Given the description of an element on the screen output the (x, y) to click on. 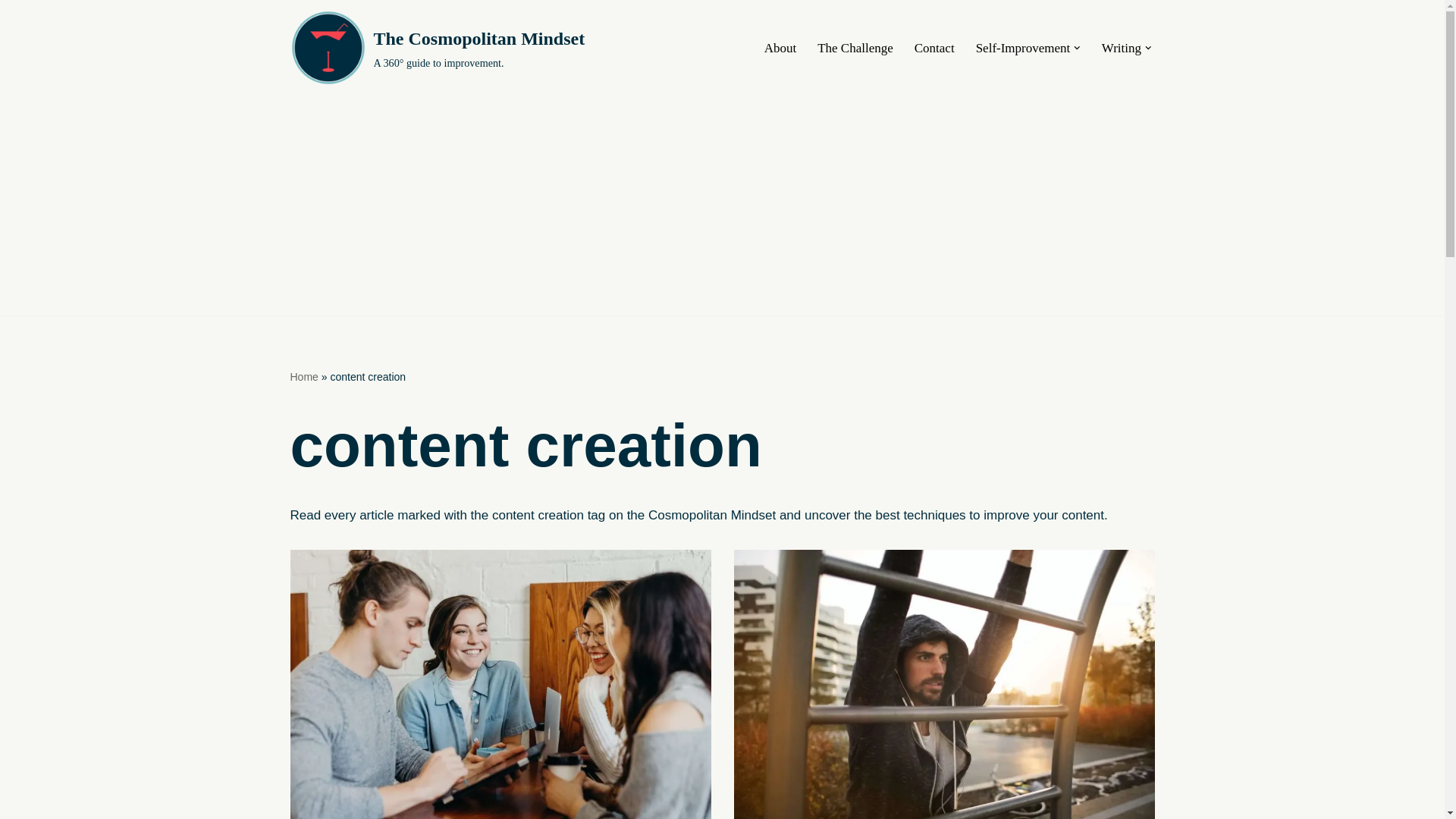
3 Common Content Creation Pitfalls To Watch Out For (943, 684)
The Challenge (854, 47)
Home (303, 377)
Unlock the True Power of ChatGPT for Content Marketing (499, 684)
Contact (934, 47)
Skip to content (11, 31)
Self-Improvement (1022, 47)
About (780, 47)
Writing (1121, 47)
